Given the description of an element on the screen output the (x, y) to click on. 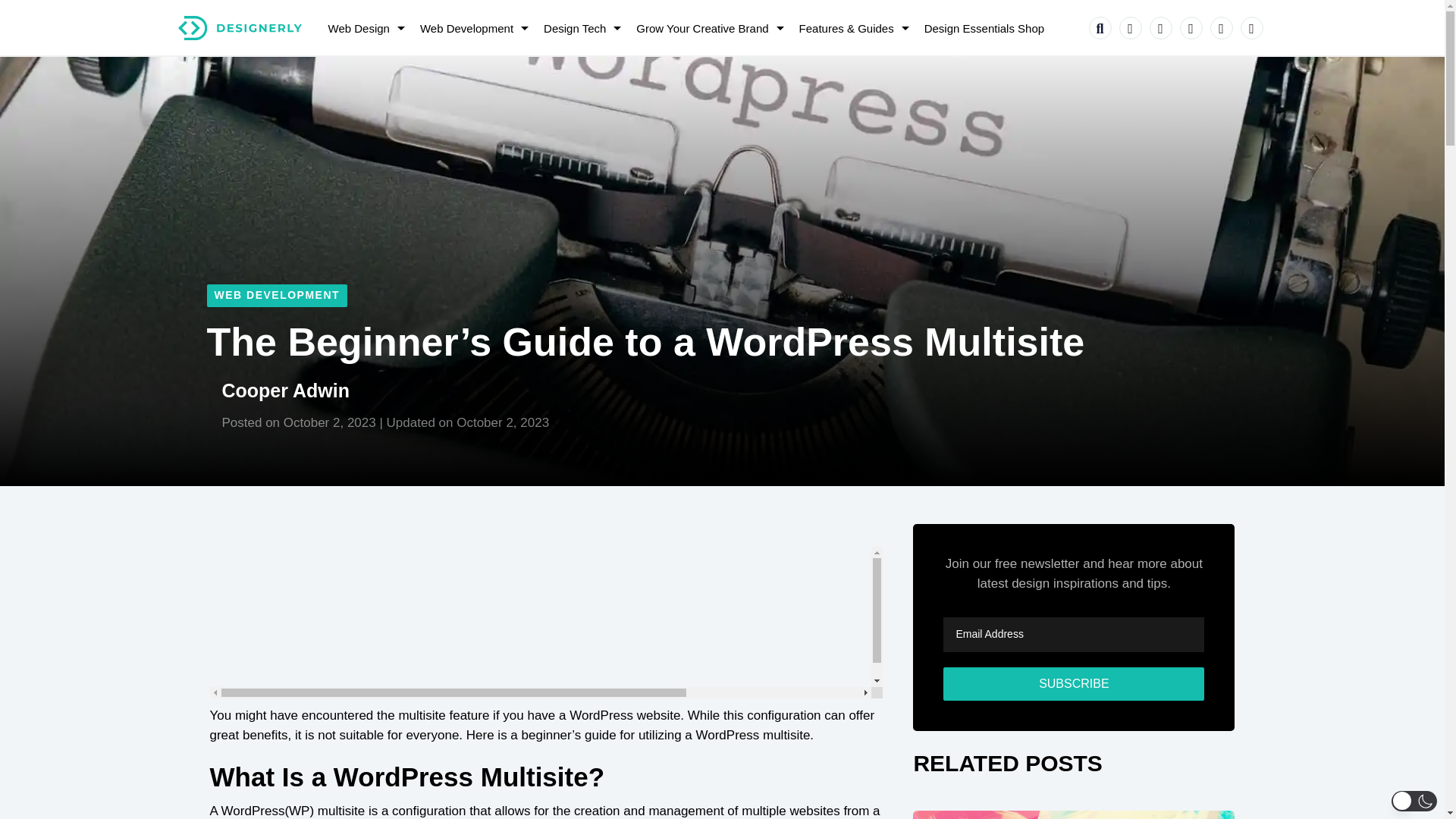
Cooper Adwin (285, 390)
Web Development (470, 28)
Design Essentials Shop (983, 28)
Web Design (363, 28)
WEB DEVELOPMENT (276, 295)
Design Tech (578, 28)
Grow Your Creative Brand (705, 28)
